Given the description of an element on the screen output the (x, y) to click on. 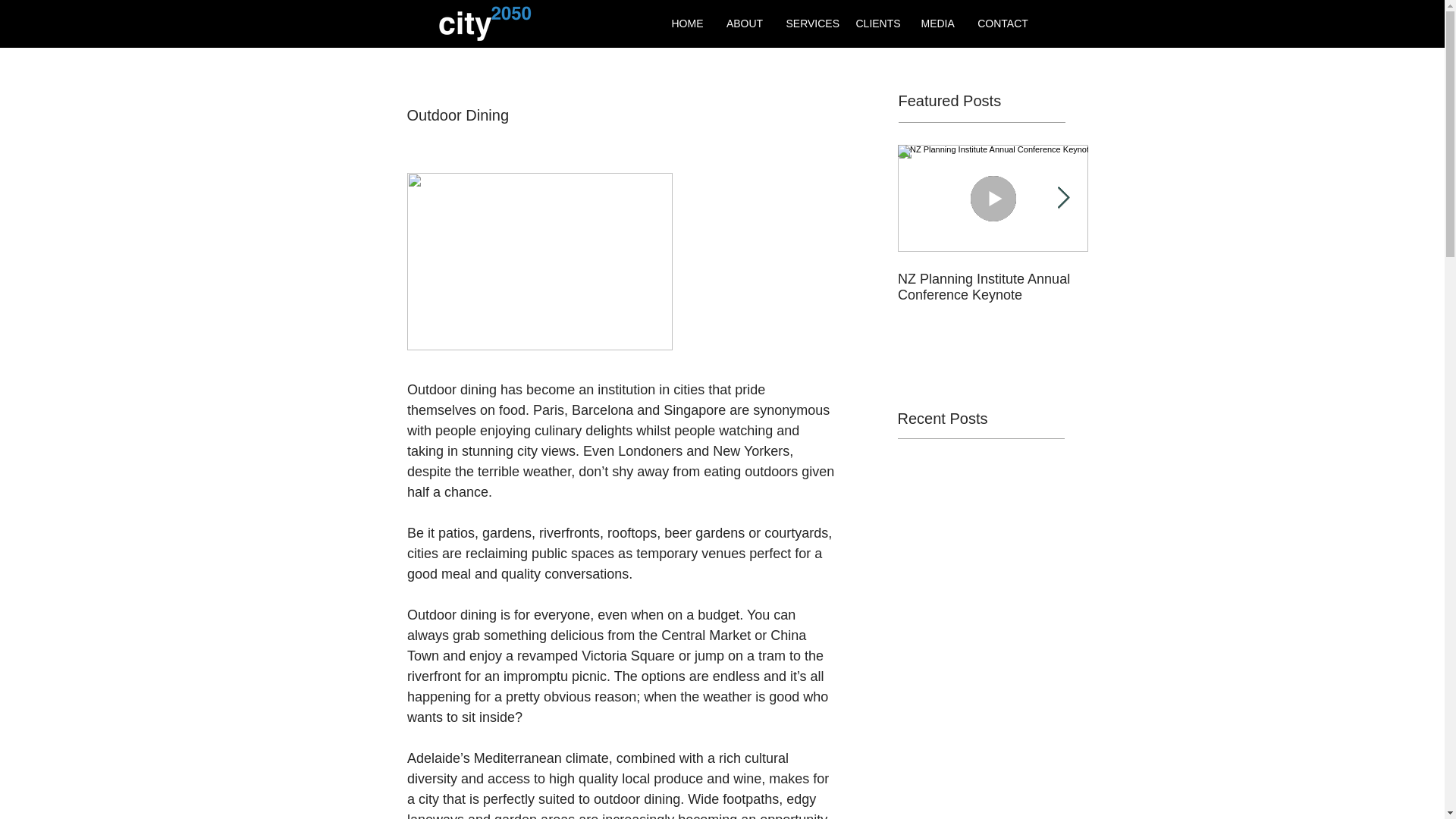
HOME (686, 23)
CLIENTS (877, 23)
ABOUT (744, 23)
MEDIA (938, 23)
SERVICES (809, 23)
CONTACT (1003, 23)
NZ Planning Institute Annual Conference Keynote (992, 287)
